Given the description of an element on the screen output the (x, y) to click on. 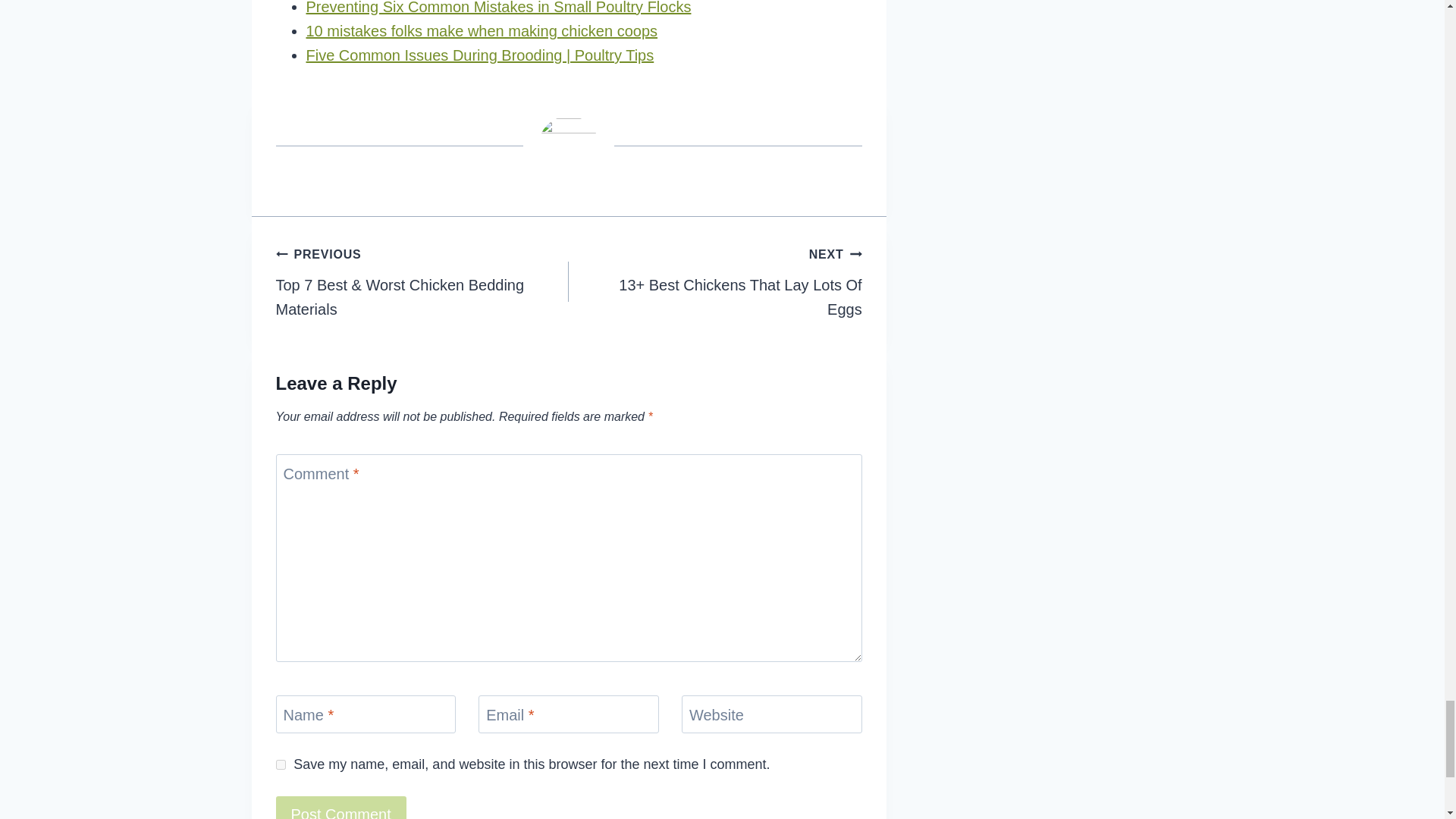
yes (280, 764)
Post Comment (341, 807)
10 mistakes folks make when making chicken coops (481, 30)
Post Comment (341, 807)
Preventing Six Common Mistakes in Small Poultry Flocks (498, 7)
